Given the description of an element on the screen output the (x, y) to click on. 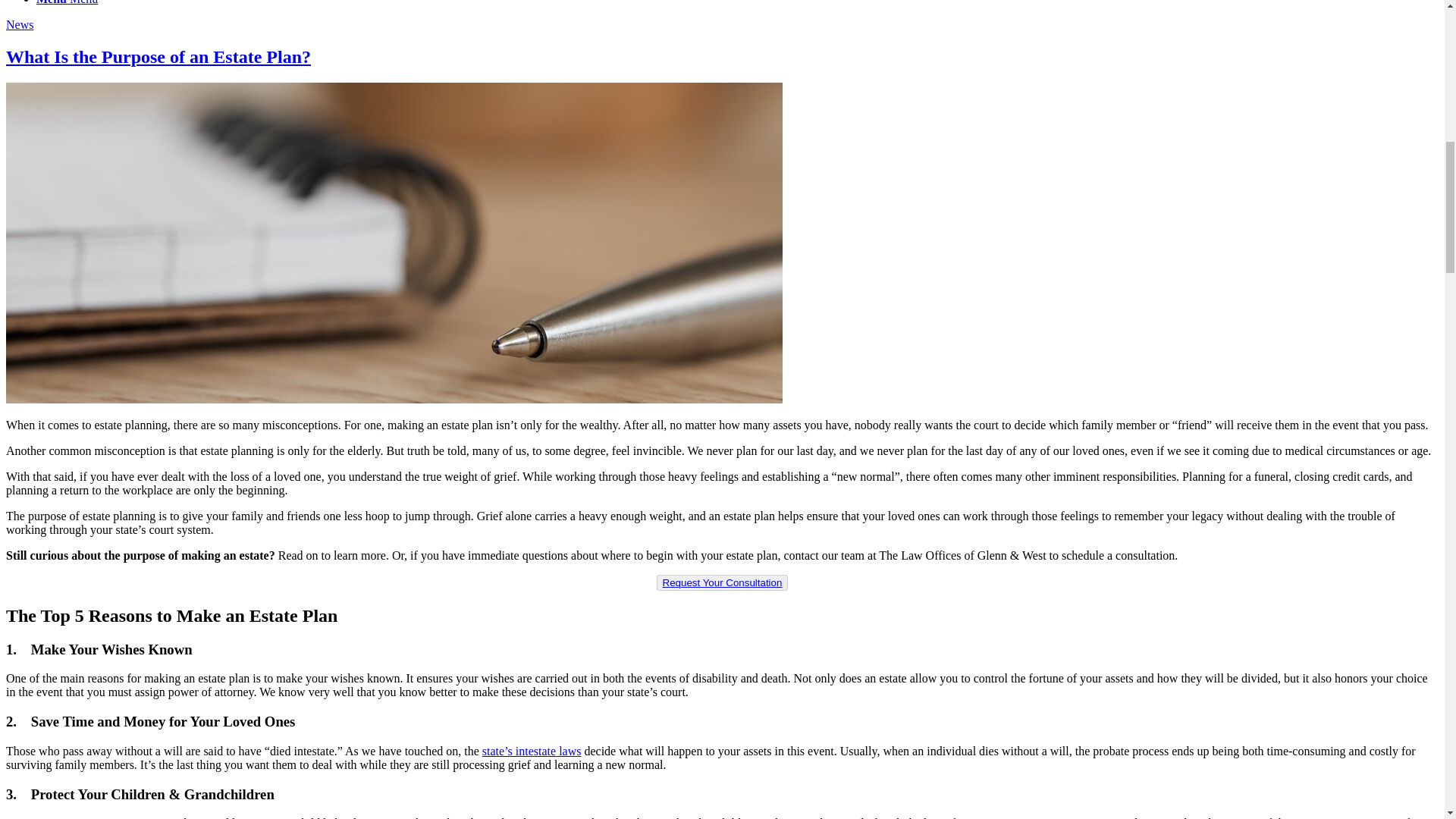
Permanent Link: What Is the Purpose of an Estate Plan? (158, 56)
silver pin and a planner (394, 399)
